Given the description of an element on the screen output the (x, y) to click on. 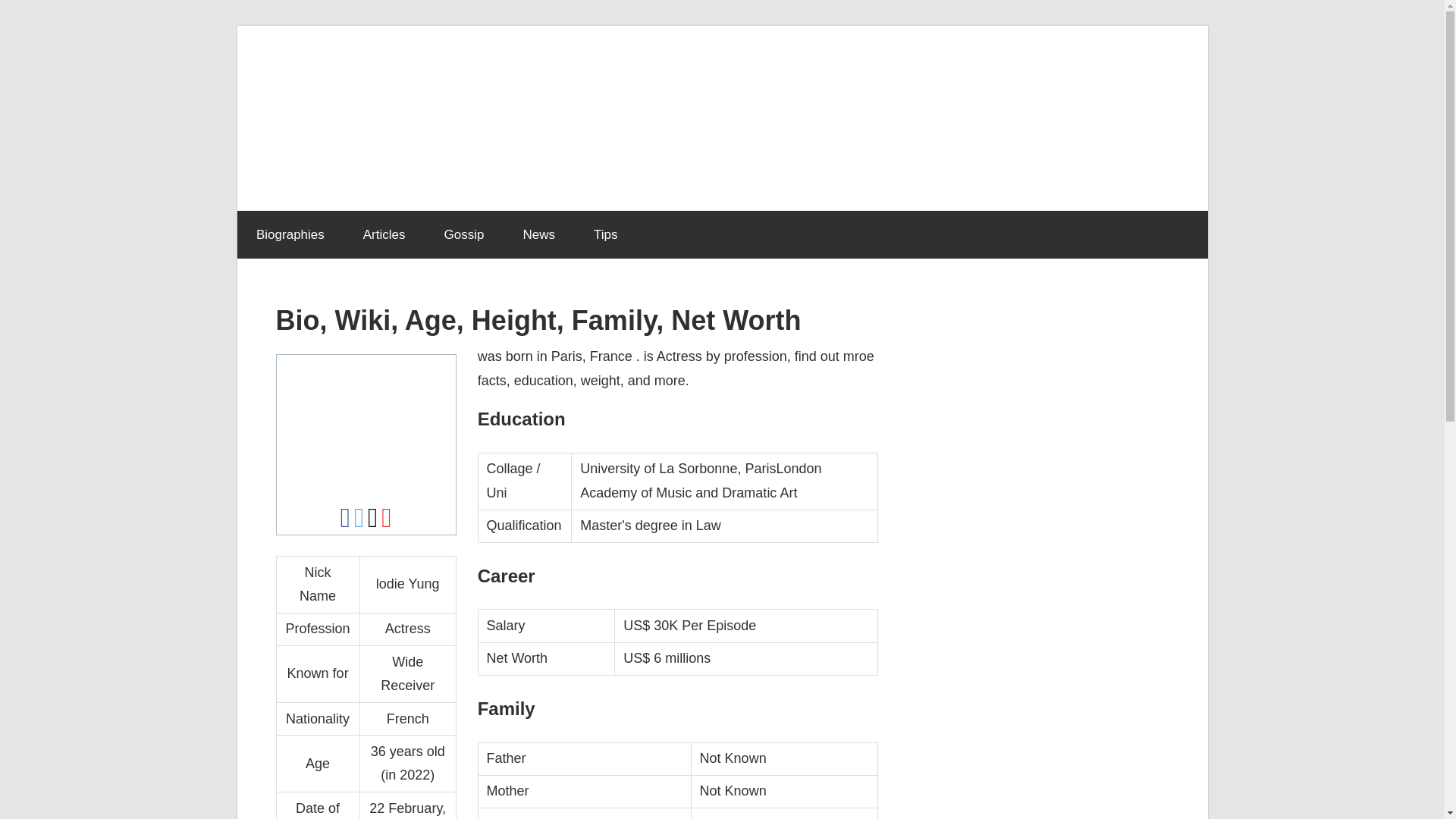
Articles (384, 234)
Biographies (289, 234)
Tips (605, 234)
News (539, 234)
Gossip (464, 234)
